Given the description of an element on the screen output the (x, y) to click on. 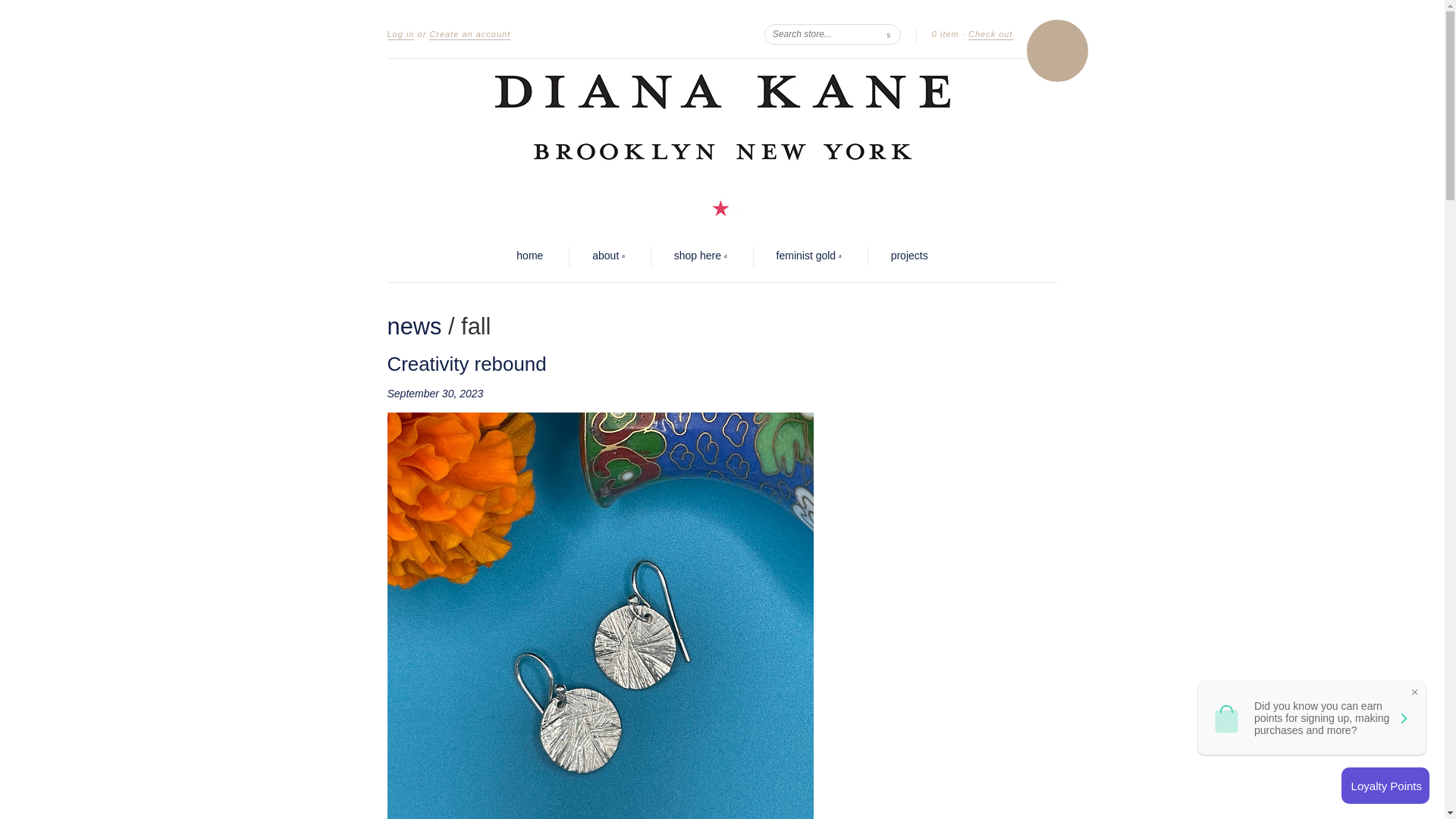
news (414, 325)
Search (888, 33)
0 item (945, 34)
home (529, 255)
Creativity rebound (466, 363)
Log in (400, 34)
Create an account (470, 34)
shop here (700, 256)
LoyaltyLion beacon (1384, 785)
Check out (990, 34)
about (608, 256)
projects (909, 255)
feminist gold (808, 256)
